Given the description of an element on the screen output the (x, y) to click on. 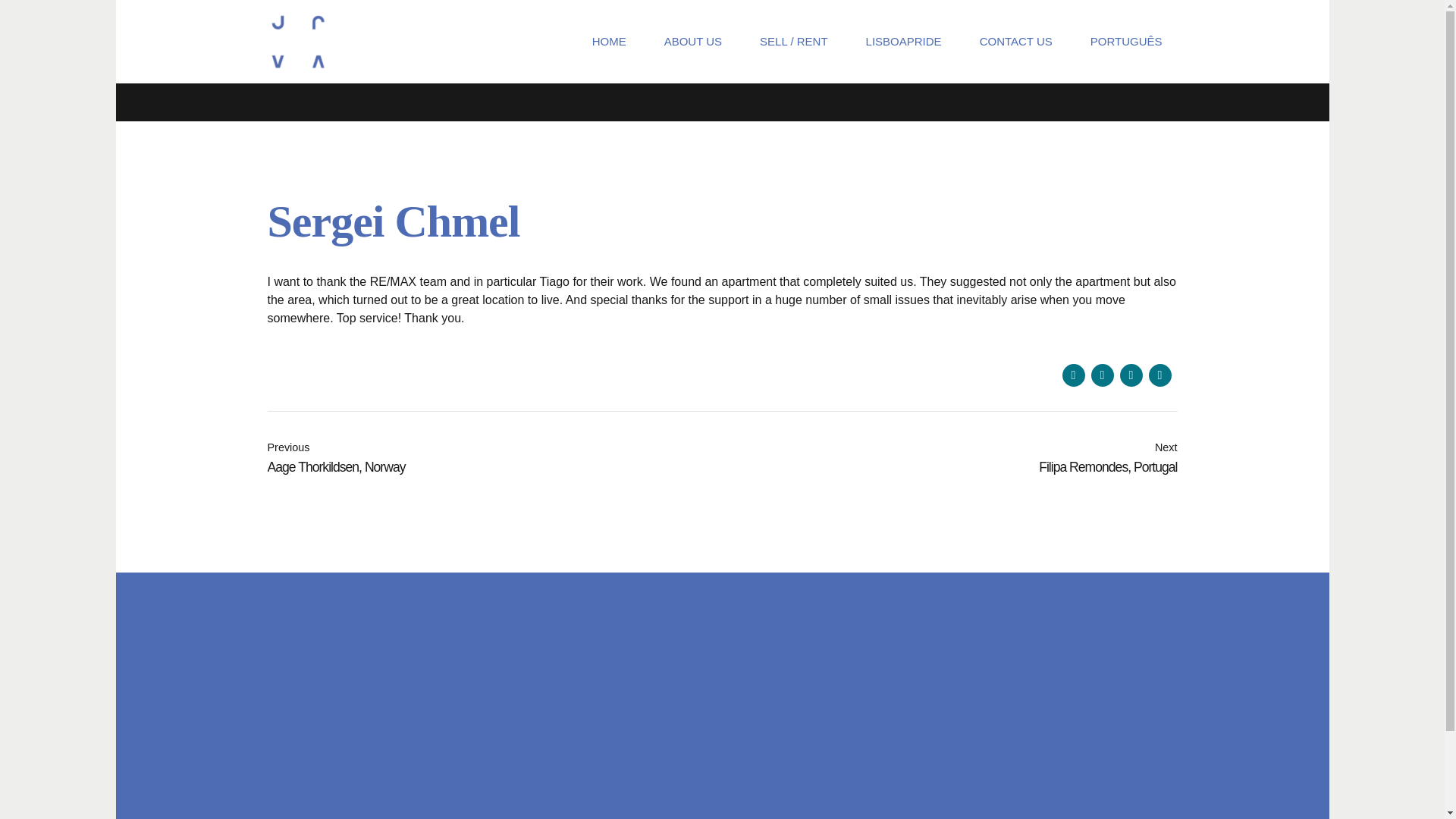
Share on Twitter (1101, 374)
HOME (609, 41)
ABOUT US (692, 41)
LISBOAPRIDE (494, 458)
Share on Linkedin (903, 41)
Share on Facebook (1130, 374)
Share on WhatsApp (1072, 374)
CONTACT US (1159, 374)
